Given the description of an element on the screen output the (x, y) to click on. 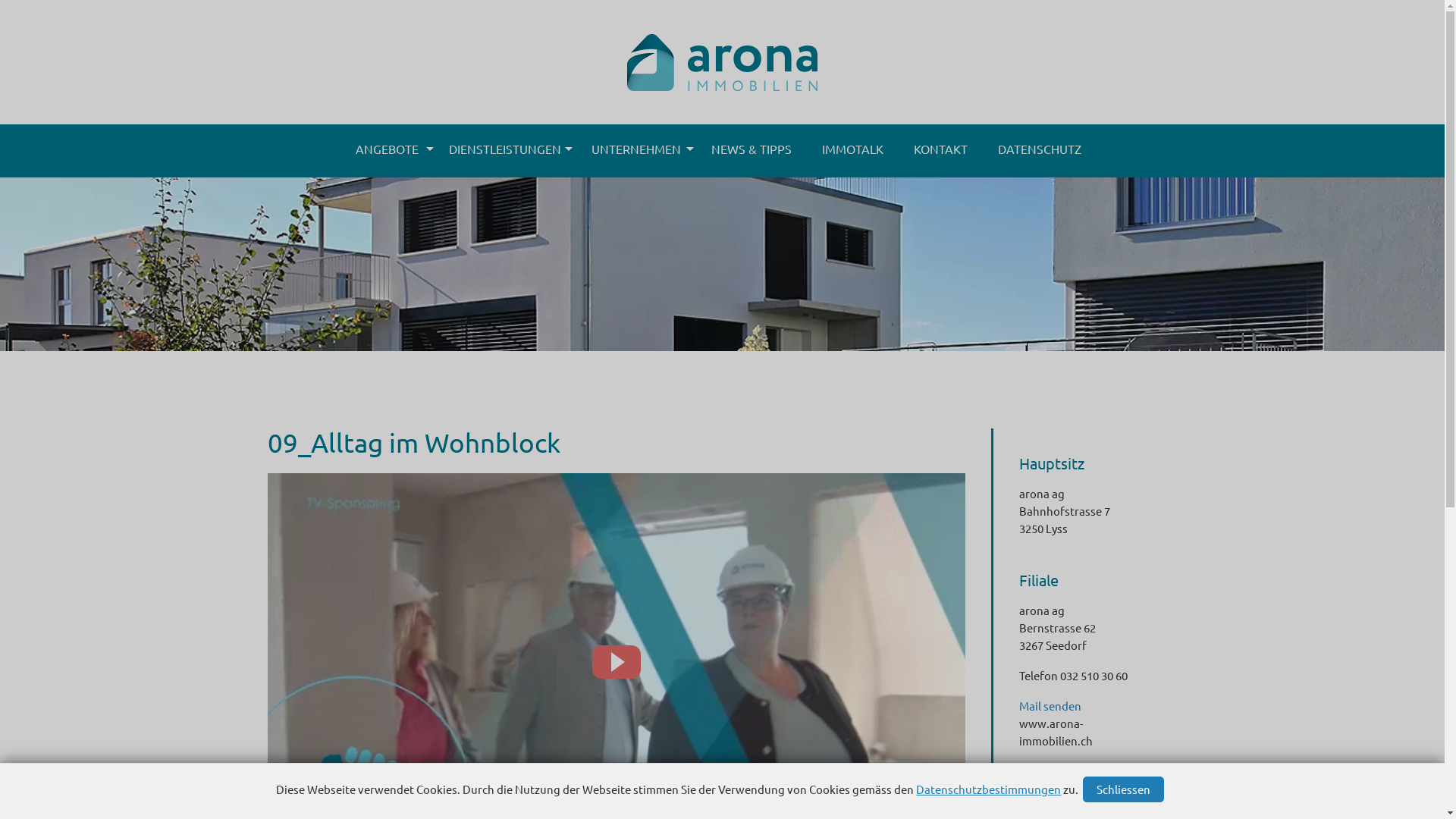
NEWS & TIPPS Element type: text (751, 150)
Datenschutzbestimmungen Element type: text (988, 788)
KONTAKT Element type: text (940, 150)
UNTERNEHMEN Element type: text (636, 150)
IMMOTALK Element type: text (852, 150)
DATENSCHUTZ Element type: text (1039, 150)
Zur Startseite Element type: hover (721, 45)
DIENSTLEISTUNGEN Element type: text (504, 150)
Schliessen Element type: text (1123, 789)
ANGEBOTE Element type: text (386, 150)
Mail senden Element type: text (1050, 705)
